Given the description of an element on the screen output the (x, y) to click on. 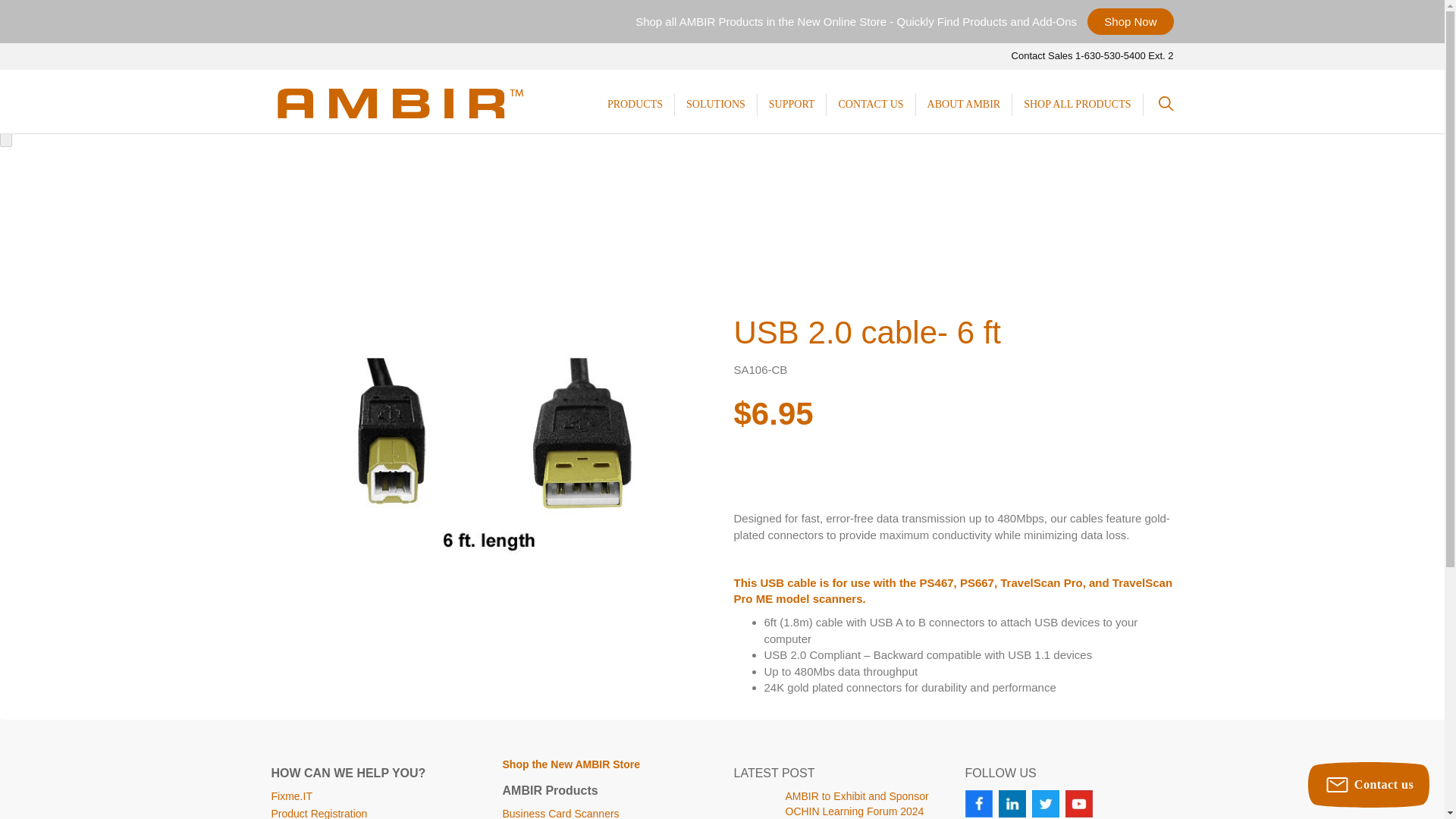
Shop Now (1130, 21)
PRODUCTS (634, 104)
SOLUTIONS (716, 104)
